Given the description of an element on the screen output the (x, y) to click on. 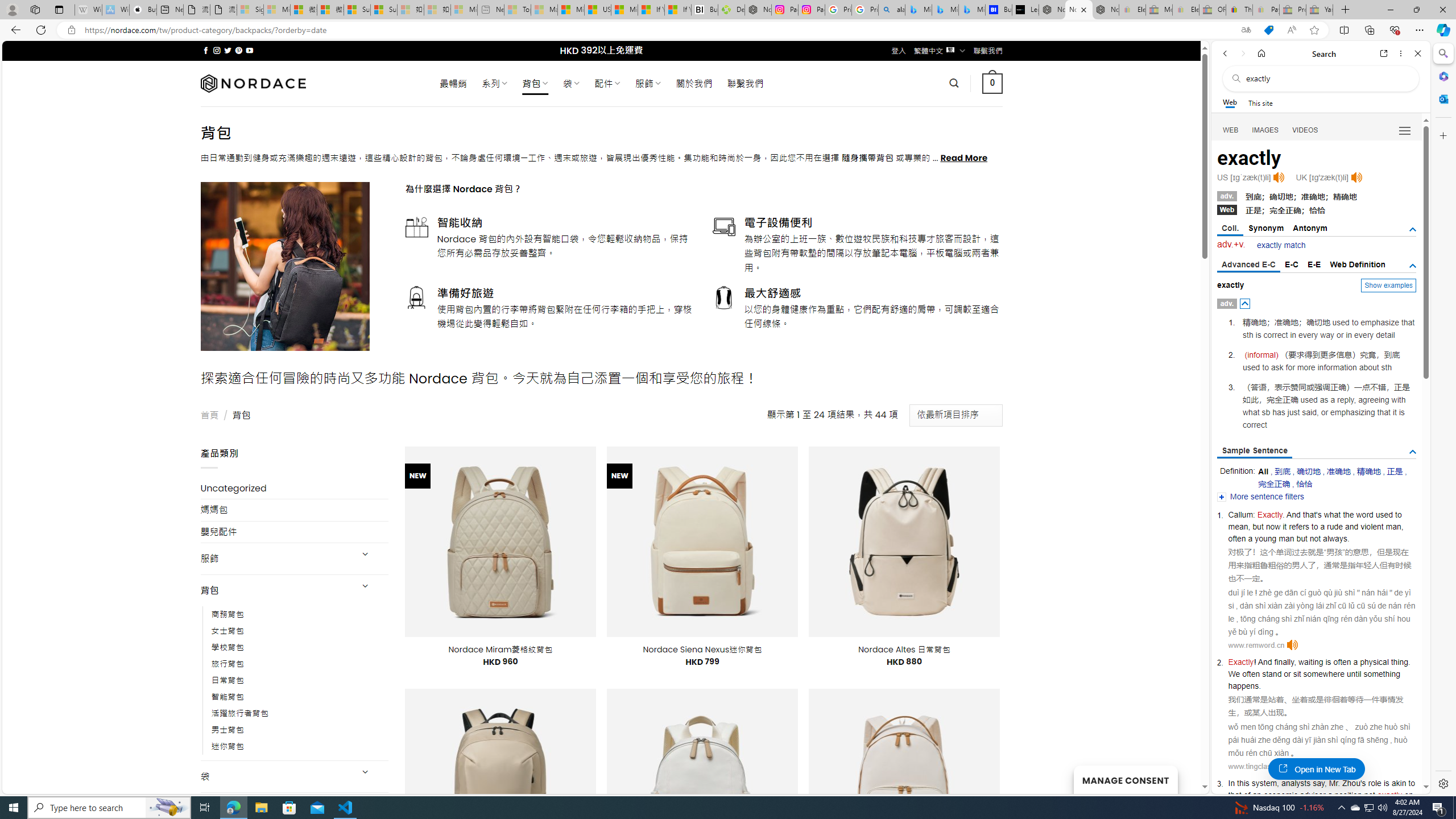
www.remword.cn (1255, 645)
a (1329, 794)
Uncategorized (294, 488)
Yard, Garden & Outdoor Living - Sleeping (1319, 9)
